Given the description of an element on the screen output the (x, y) to click on. 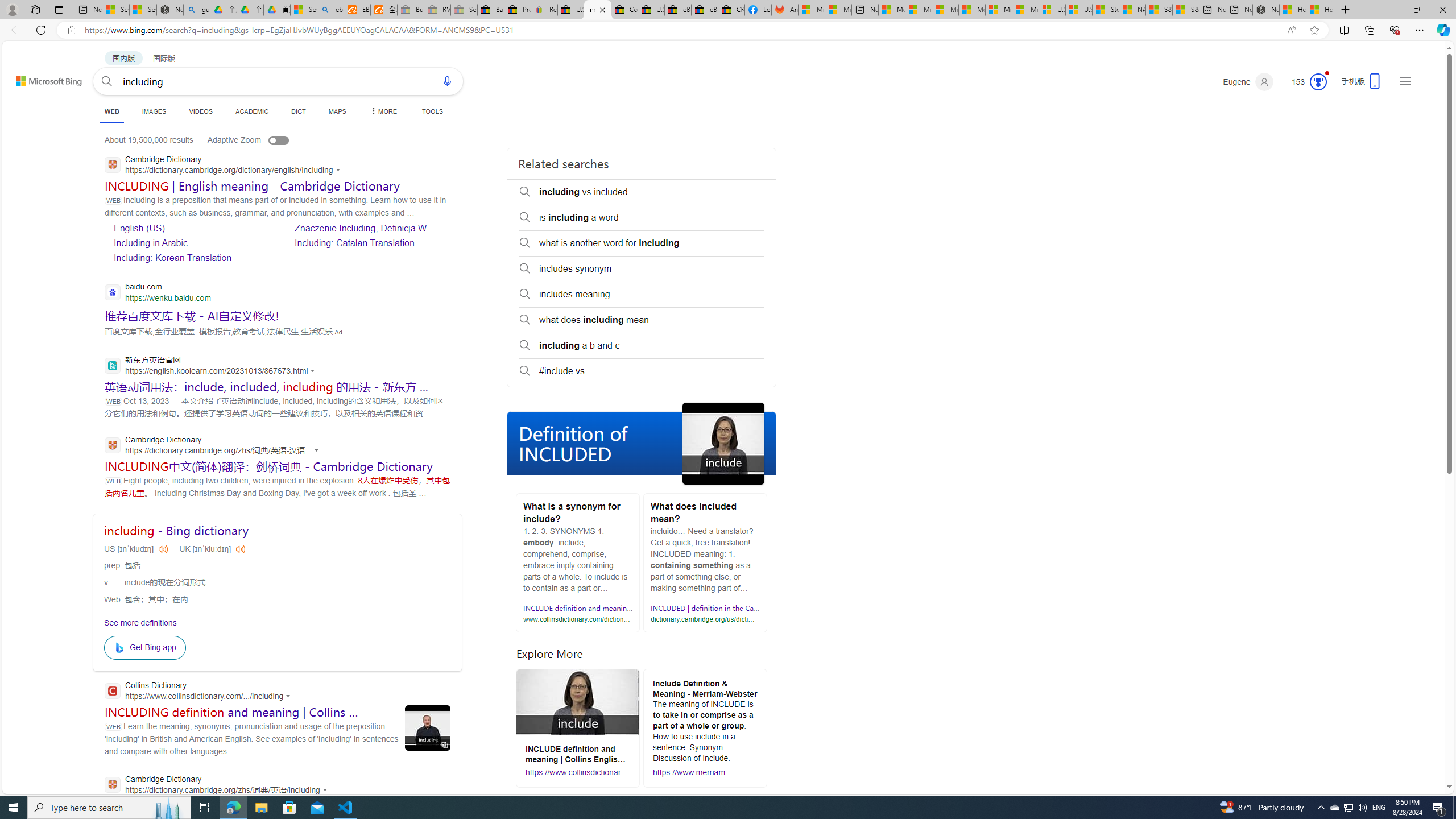
Including: Catalan Translation (371, 242)
MAPS (336, 111)
guge yunpan - Search (197, 9)
Register: Create a personal eBay account (543, 9)
WEB (111, 111)
#include vs (641, 371)
Including in Arabic (150, 243)
including a b and c (641, 345)
